Given the description of an element on the screen output the (x, y) to click on. 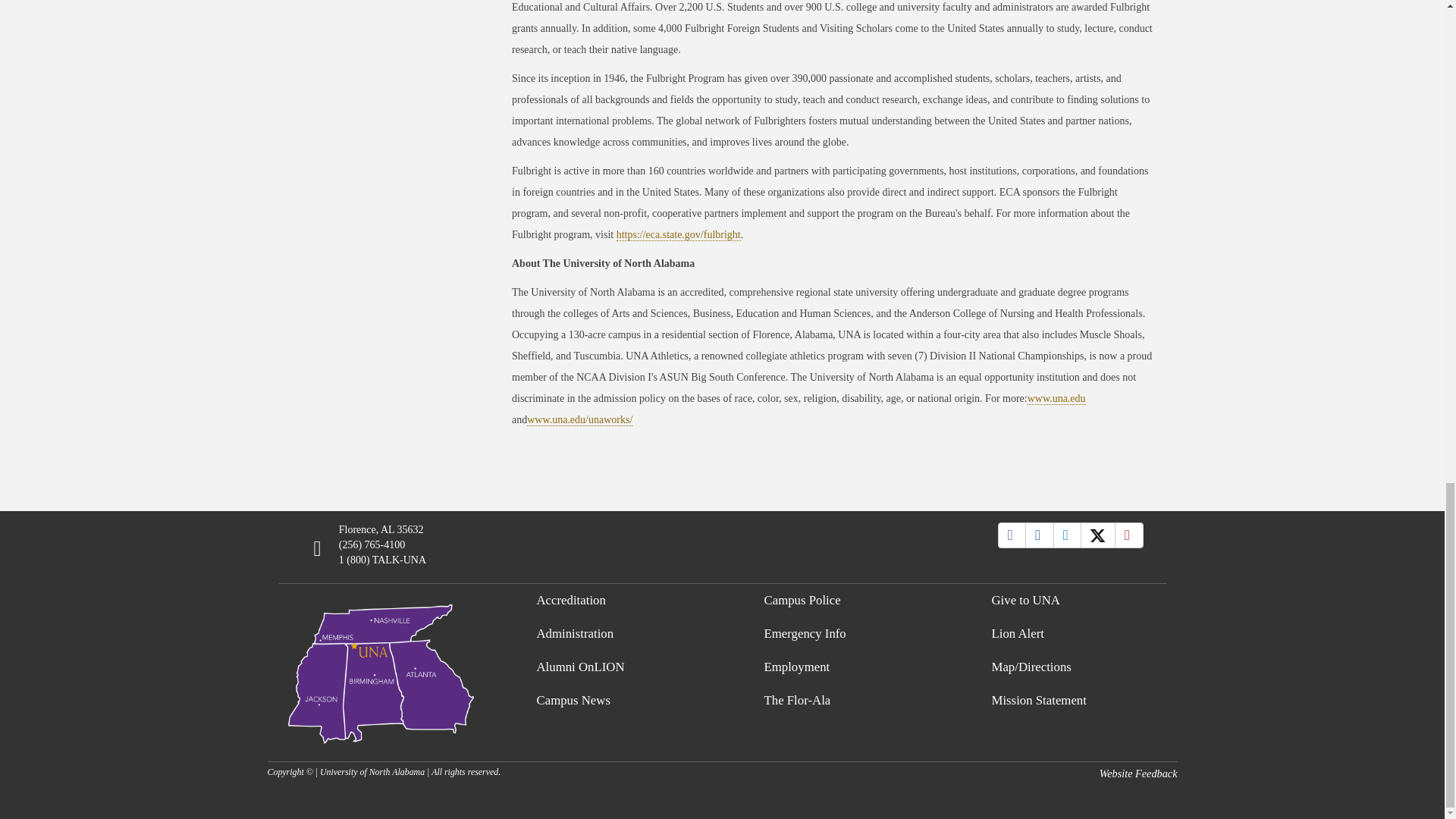
View Campus Maps (381, 670)
